Given the description of an element on the screen output the (x, y) to click on. 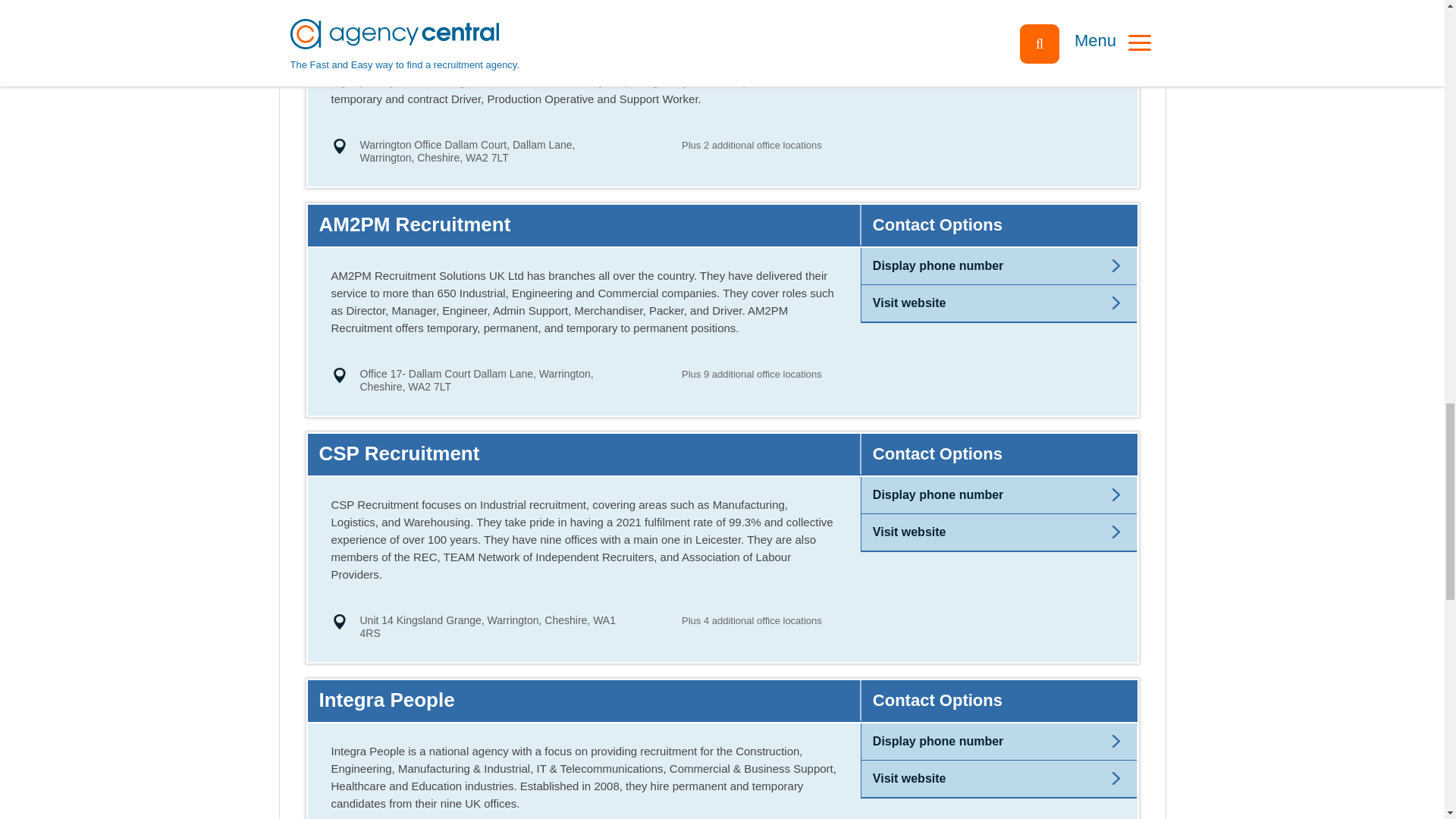
Visit website (909, 302)
Visit website (909, 56)
Display phone number (487, 626)
Display phone number (937, 265)
